Given the description of an element on the screen output the (x, y) to click on. 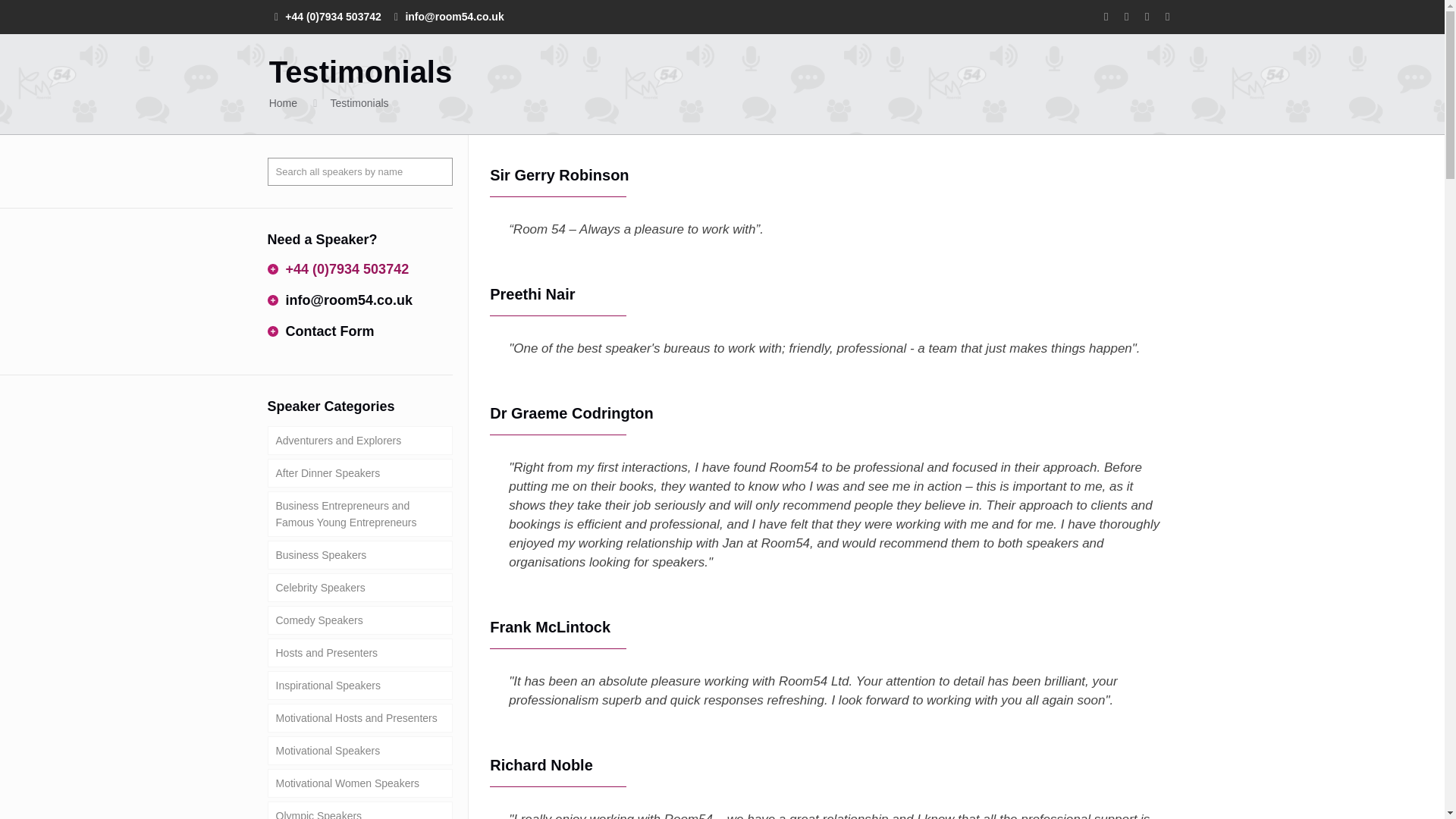
Business Speakers (358, 554)
Contact Form (329, 331)
Home (283, 102)
Comedy Speakers (358, 620)
LinkedIn (1166, 15)
Business Entrepreneurs and Famous Young Entrepreneurs (358, 514)
Contact Form (329, 331)
YouTube (1146, 15)
Facebook (1105, 15)
After Dinner Speakers (358, 472)
Testimonials (359, 102)
Celebrity Speakers (358, 587)
Twitter (1126, 15)
Adventurers and Explorers (358, 440)
